Given the description of an element on the screen output the (x, y) to click on. 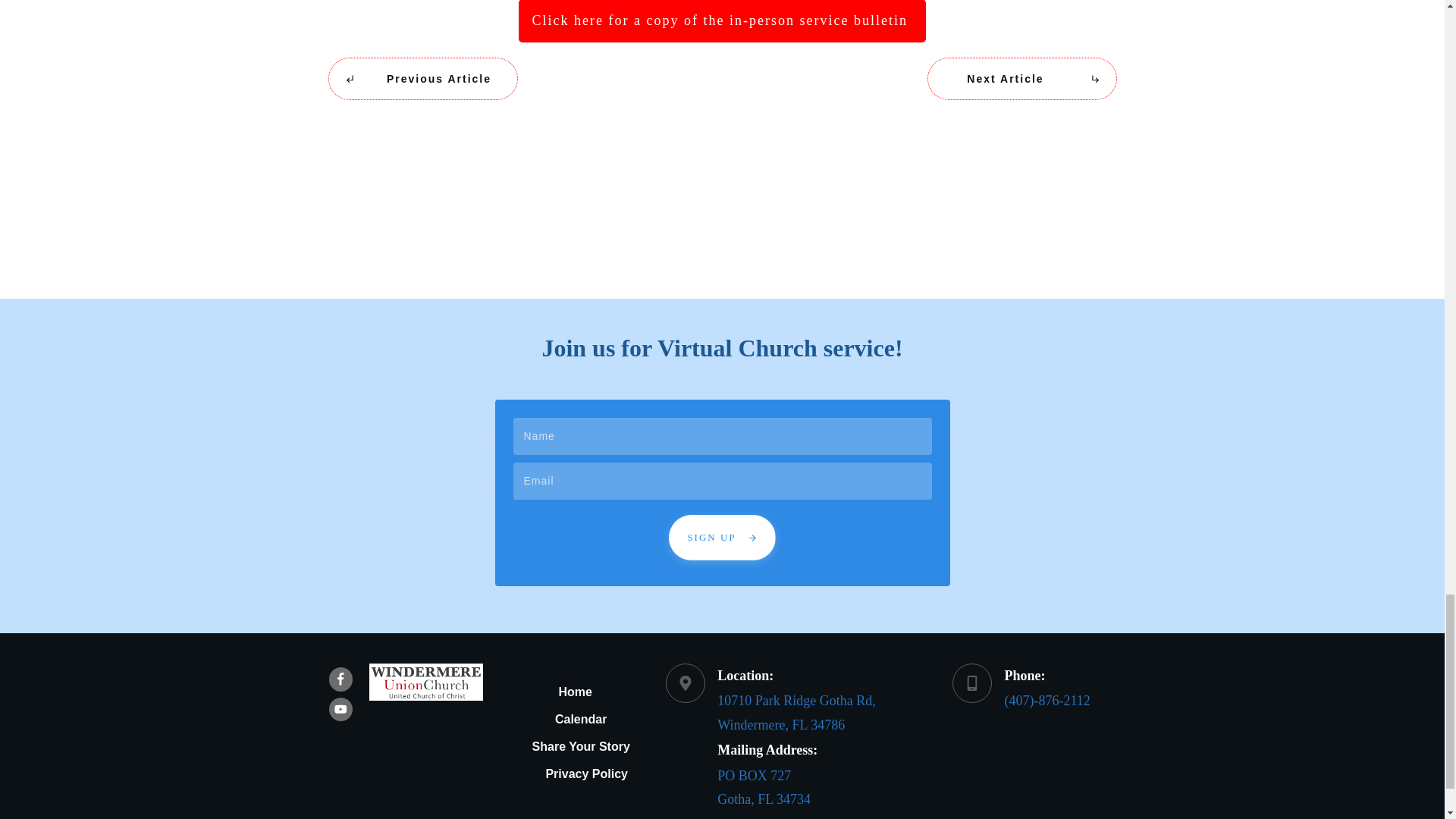
SIGN UP (721, 537)
Previous Article (421, 78)
Next Article (1021, 78)
Click here for a copy of the in-person service bulletin  (722, 21)
